Given the description of an element on the screen output the (x, y) to click on. 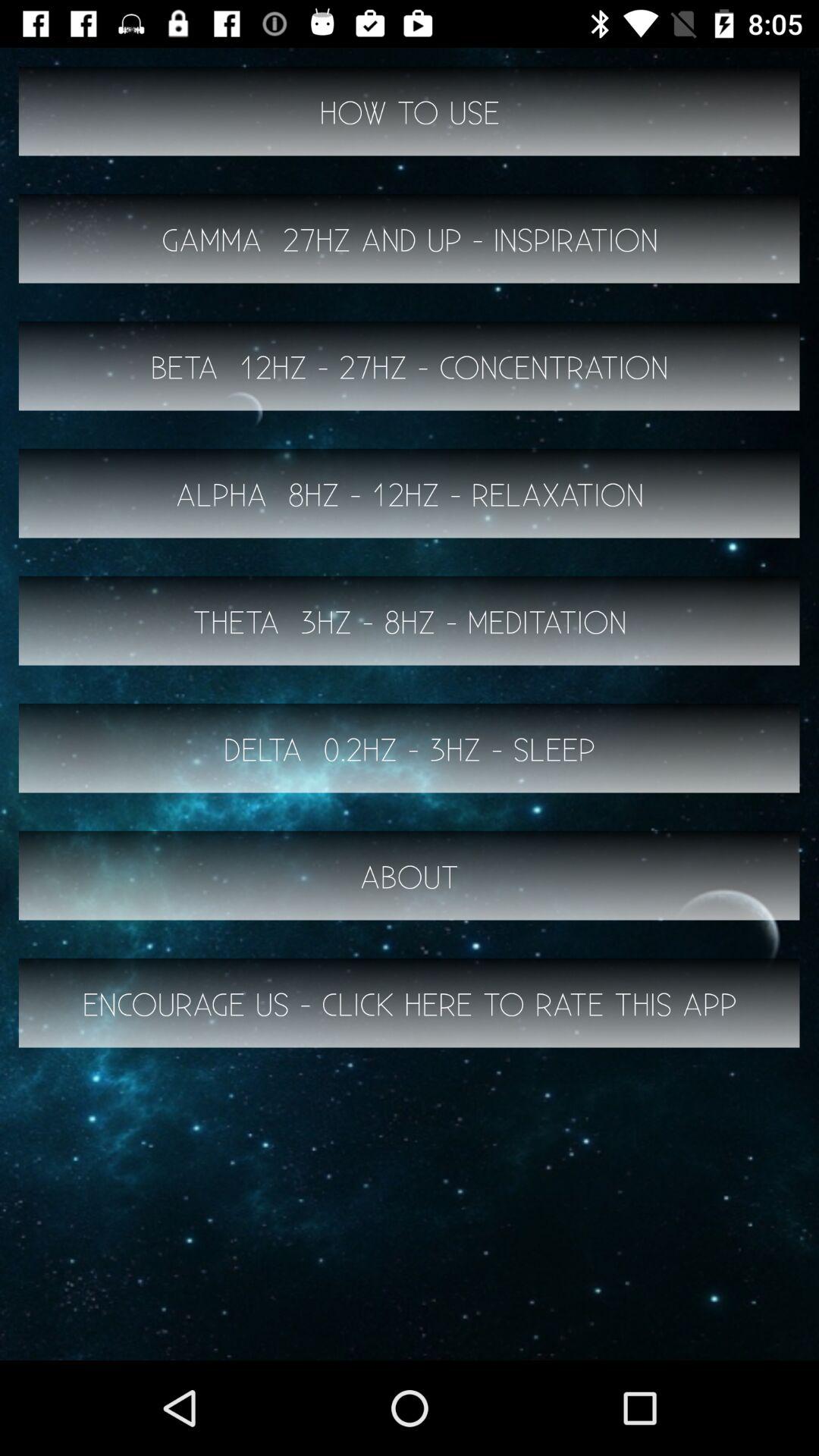
turn off the icon below theta 3hz 8hz icon (409, 748)
